Given the description of an element on the screen output the (x, y) to click on. 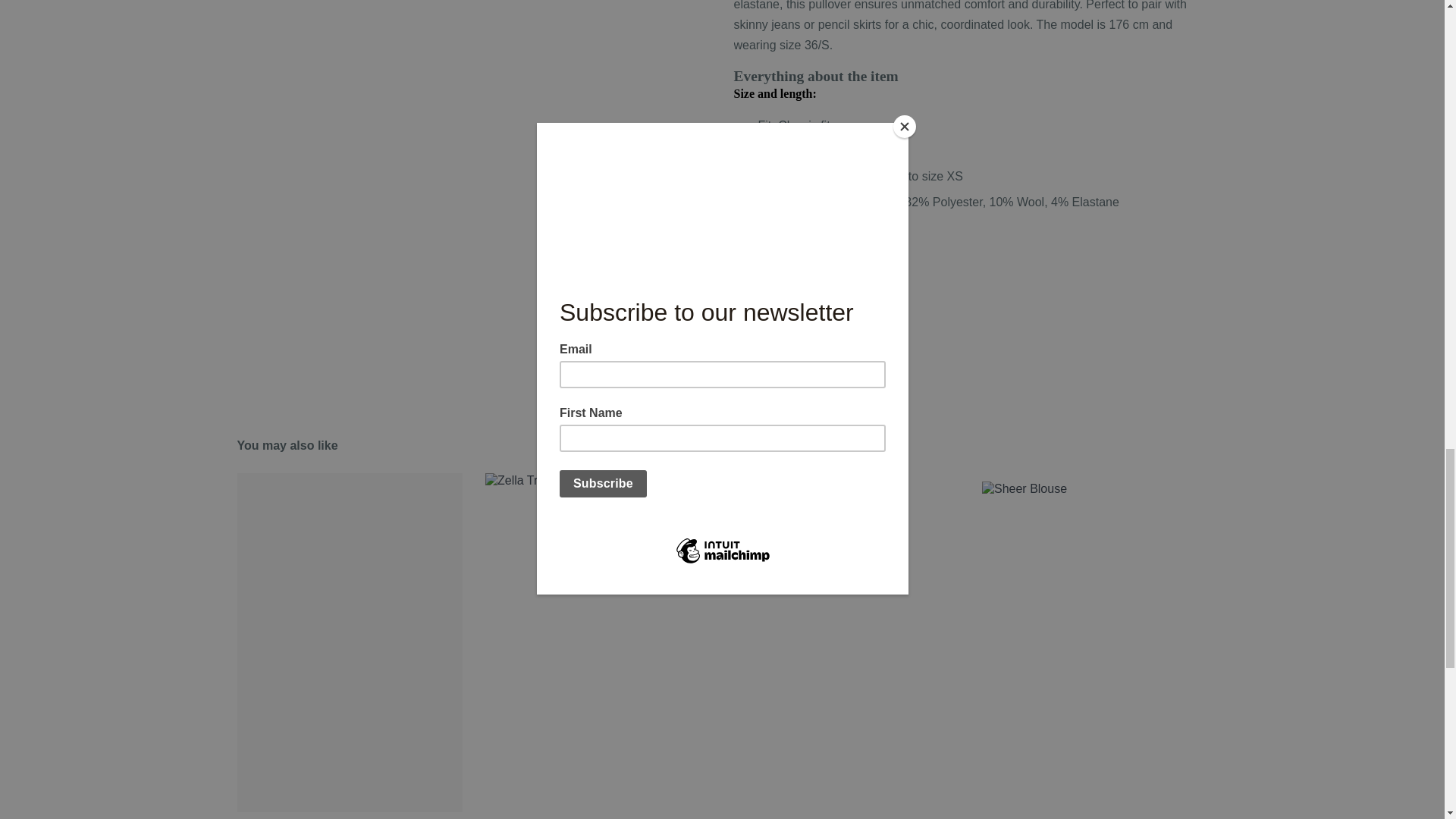
Pin on Pinterest (883, 388)
Dry clean only.. (870, 264)
do not tumble dry. (840, 264)
do not bleach. (779, 264)
Tweet on Twitter (821, 388)
30 degrees extra gentle wash. (748, 264)
Share on Facebook (758, 388)
